Given the description of an element on the screen output the (x, y) to click on. 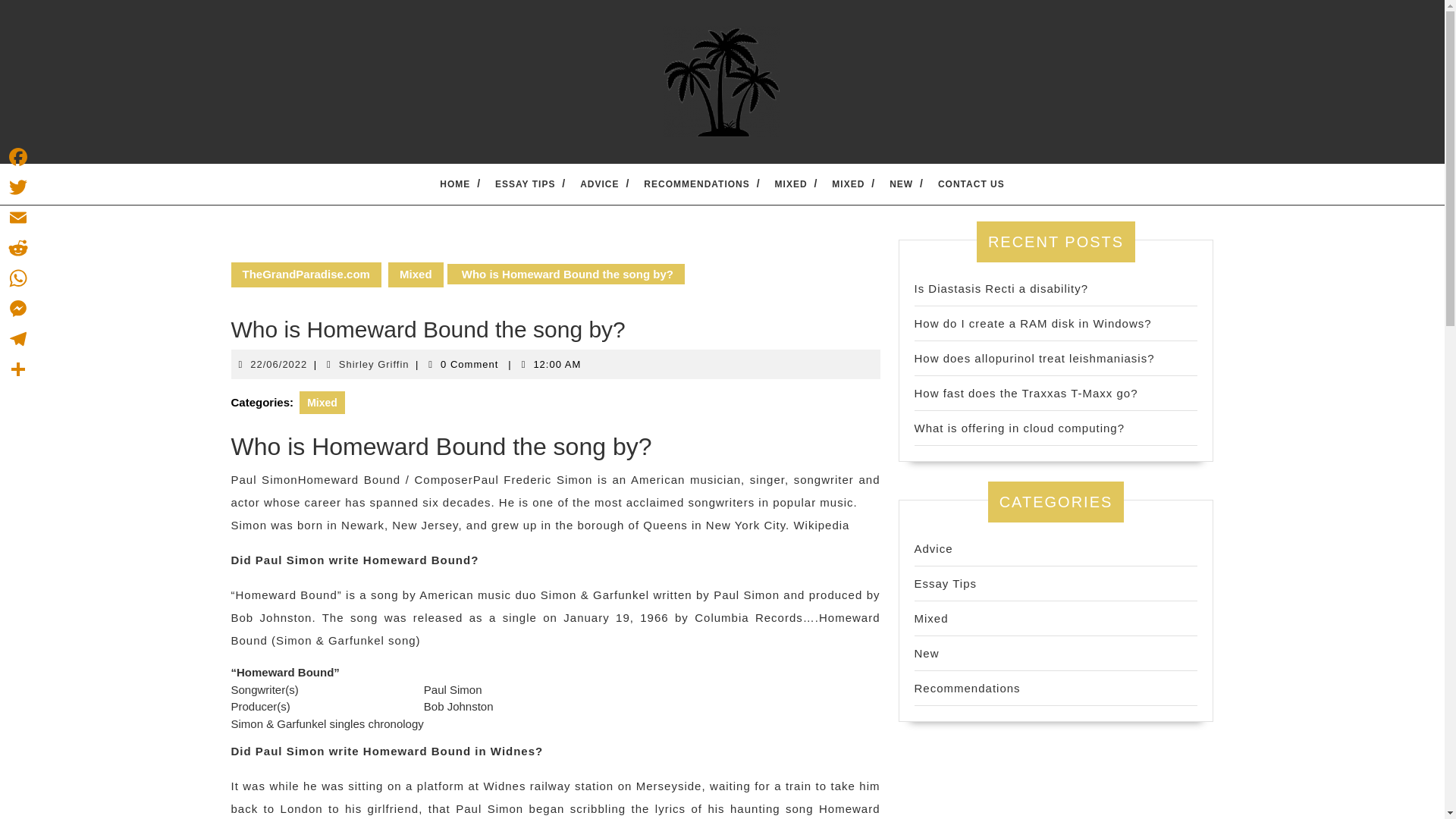
Recommendations (967, 687)
How do I create a RAM disk in Windows? (1032, 323)
Twitter (17, 186)
Is Diastasis Recti a disability? (1001, 287)
HOME (454, 183)
CONTACT US (971, 183)
TheGrandParadise.com (305, 274)
How does allopurinol treat leishmaniasis? (1034, 358)
Messenger (17, 308)
Advice (374, 363)
Essay Tips (933, 548)
Facebook (945, 583)
MIXED (17, 156)
How fast does the Traxxas T-Maxx go? (790, 183)
